Given the description of an element on the screen output the (x, y) to click on. 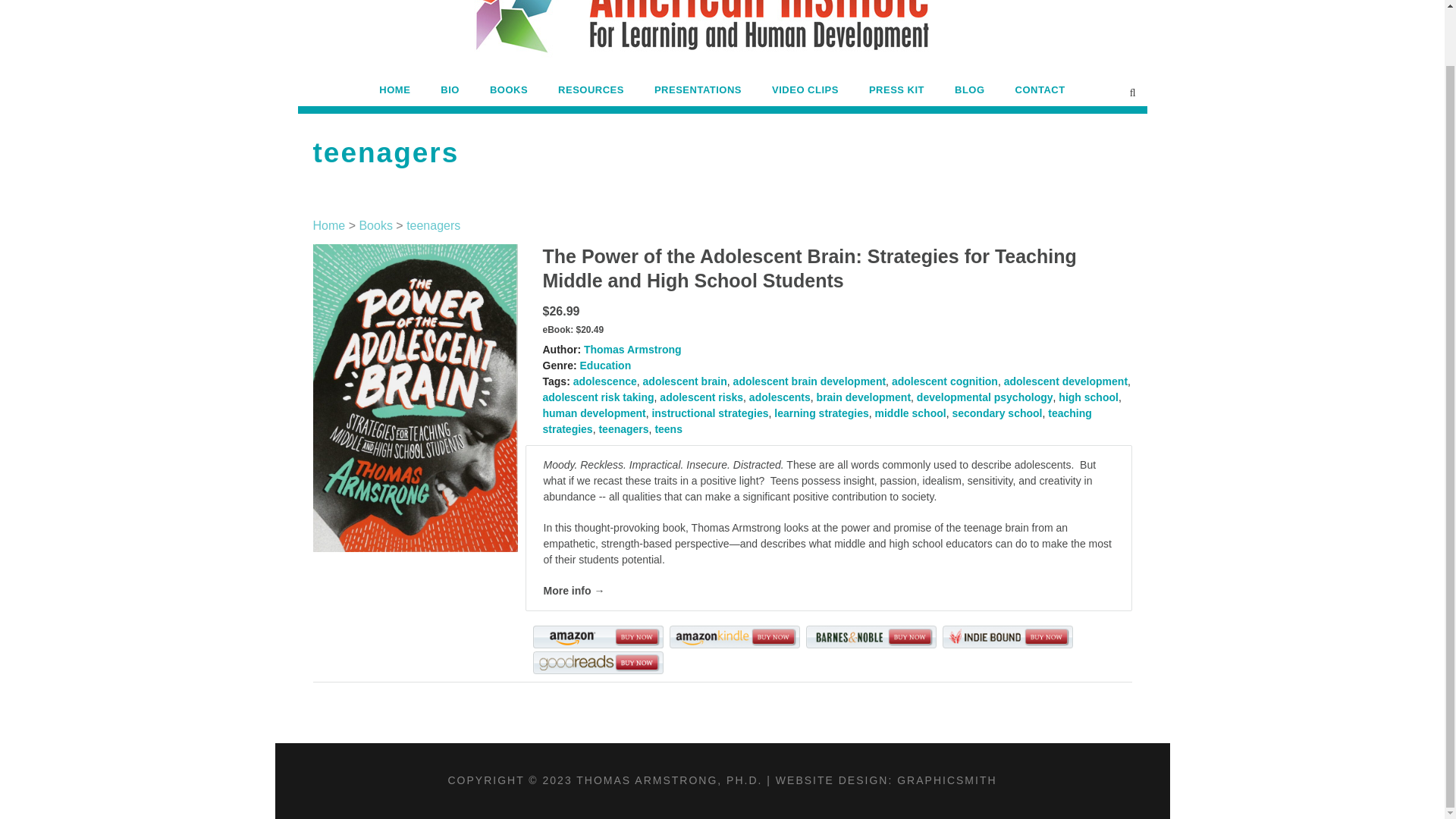
Home (329, 225)
adolescent brain (684, 381)
The American Institute for Learning and Human Development (722, 38)
RESOURCES (590, 93)
adolescence (605, 381)
adolescent risk taking (598, 397)
adolescent brain development (809, 381)
developmental psychology (984, 397)
CONTACT (1039, 93)
adolescent risks (700, 397)
Books (374, 225)
teenagers (433, 225)
VIDEO CLIPS (804, 93)
PRESENTATIONS (697, 93)
PRESS KIT (896, 93)
